Given the description of an element on the screen output the (x, y) to click on. 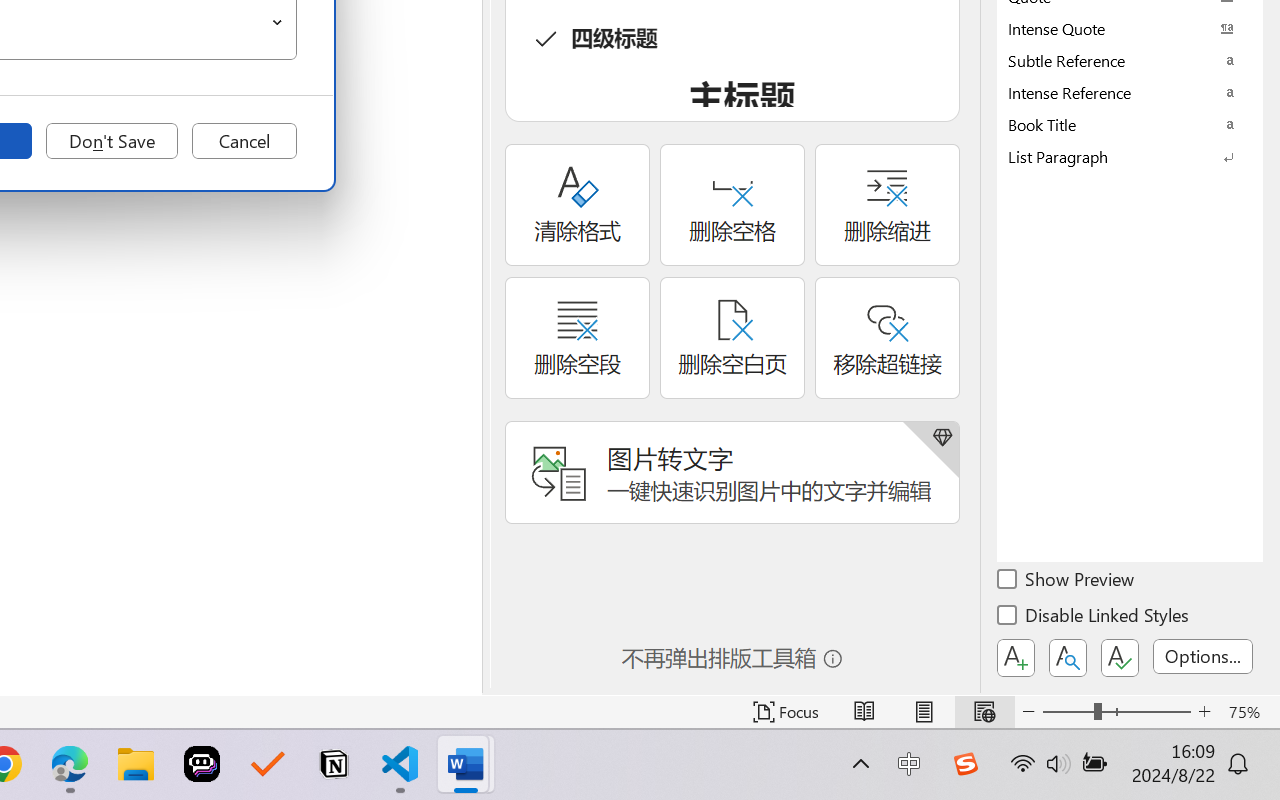
Zoom (1116, 712)
Print Layout (924, 712)
Cancel (244, 141)
Notion (333, 764)
Options... (1203, 656)
Don't Save (111, 141)
